Given the description of an element on the screen output the (x, y) to click on. 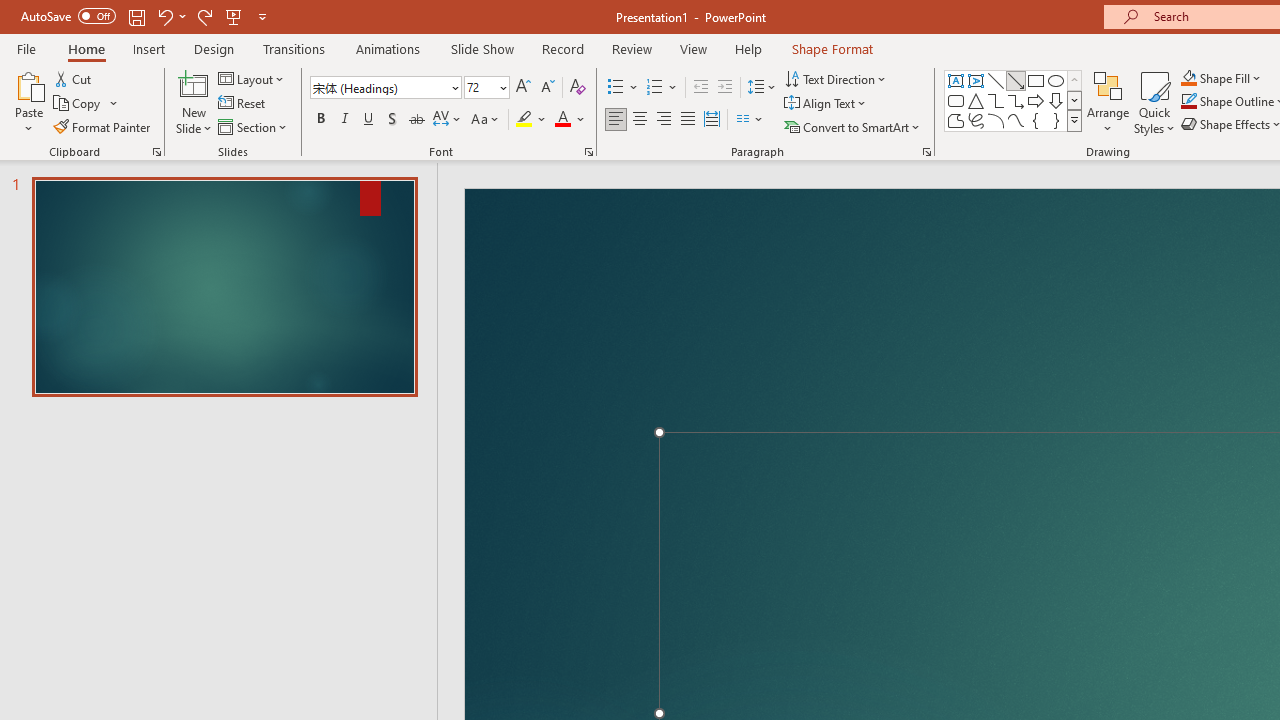
Office Clipboard... (156, 151)
Layout (252, 78)
Paste (28, 84)
Arrow: Right (1035, 100)
Font... (588, 151)
Row up (1074, 79)
Underline (369, 119)
Arrange (1108, 102)
Center (639, 119)
Font (379, 87)
AutomationID: ShapesInsertGallery (1014, 100)
Decrease Indent (700, 87)
Strikethrough (416, 119)
